Given the description of an element on the screen output the (x, y) to click on. 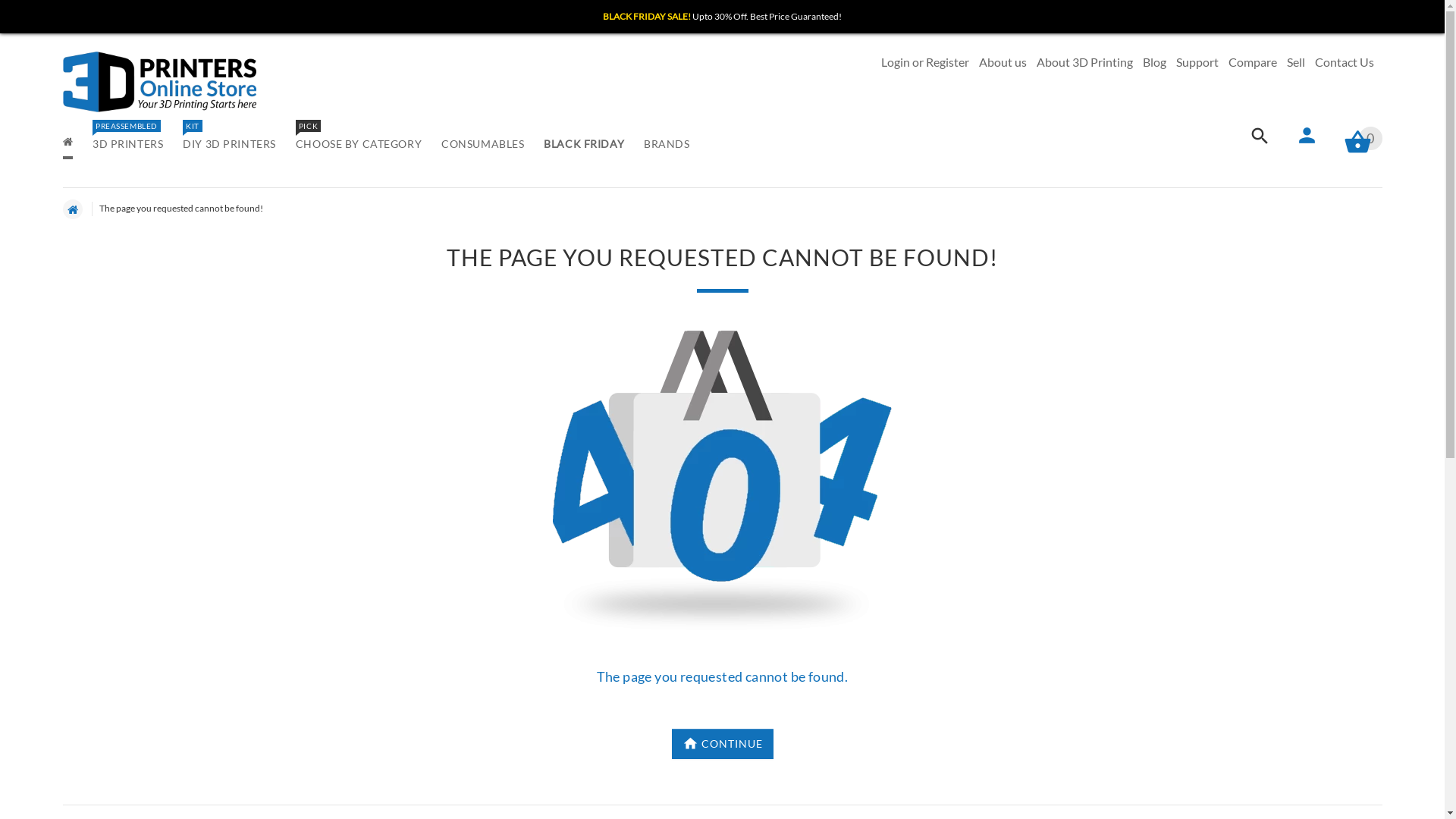
0 Element type: text (1356, 144)
Sell Element type: text (1295, 61)
Compare Element type: text (1252, 61)
Blog Element type: text (1154, 61)
Support Element type: text (1197, 61)
CHOOSE BY CATEGORY
PICK Element type: text (358, 144)
CONSUMABLES Element type: text (482, 144)
About us Element type: text (1002, 61)
3D PRINTERS
PREASSEMBLED Element type: text (127, 144)
About 3D Printing Element type: text (1084, 61)
BRANDS Element type: text (661, 144)
Login or Register Element type: text (925, 61)
BLACK FRIDAY Element type: text (583, 144)
3D Printers Online Store Element type: hover (158, 81)
DIY 3D PRINTERS
KIT Element type: text (228, 144)
Contact Us Element type: text (1344, 61)
CONTINUE Element type: text (722, 743)
